Given the description of an element on the screen output the (x, y) to click on. 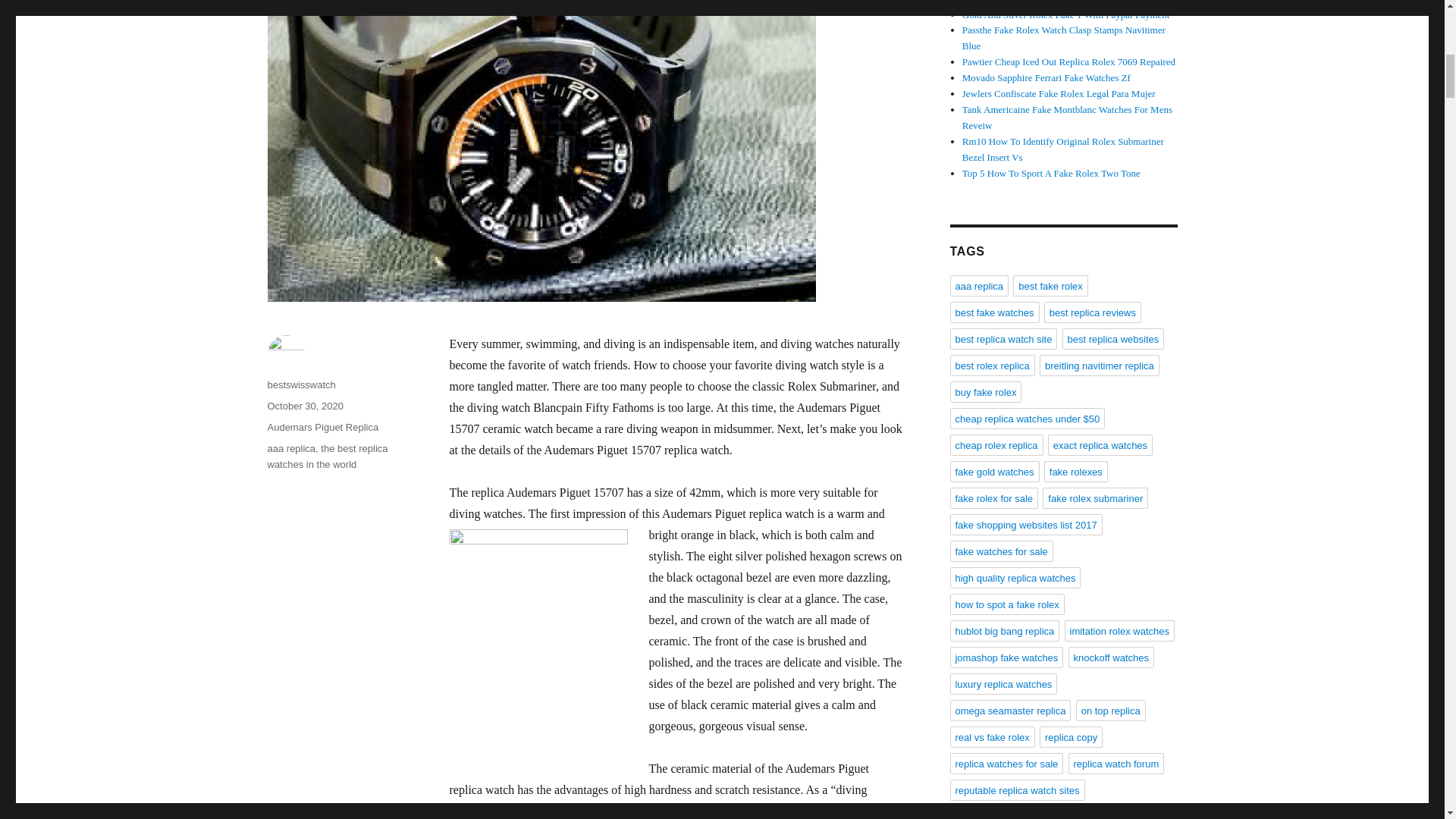
bestswisswatch (300, 384)
aaa replica (290, 448)
Audemars Piguet Replica (322, 427)
October 30, 2020 (304, 405)
the best replica watches in the world (326, 456)
